Given the description of an element on the screen output the (x, y) to click on. 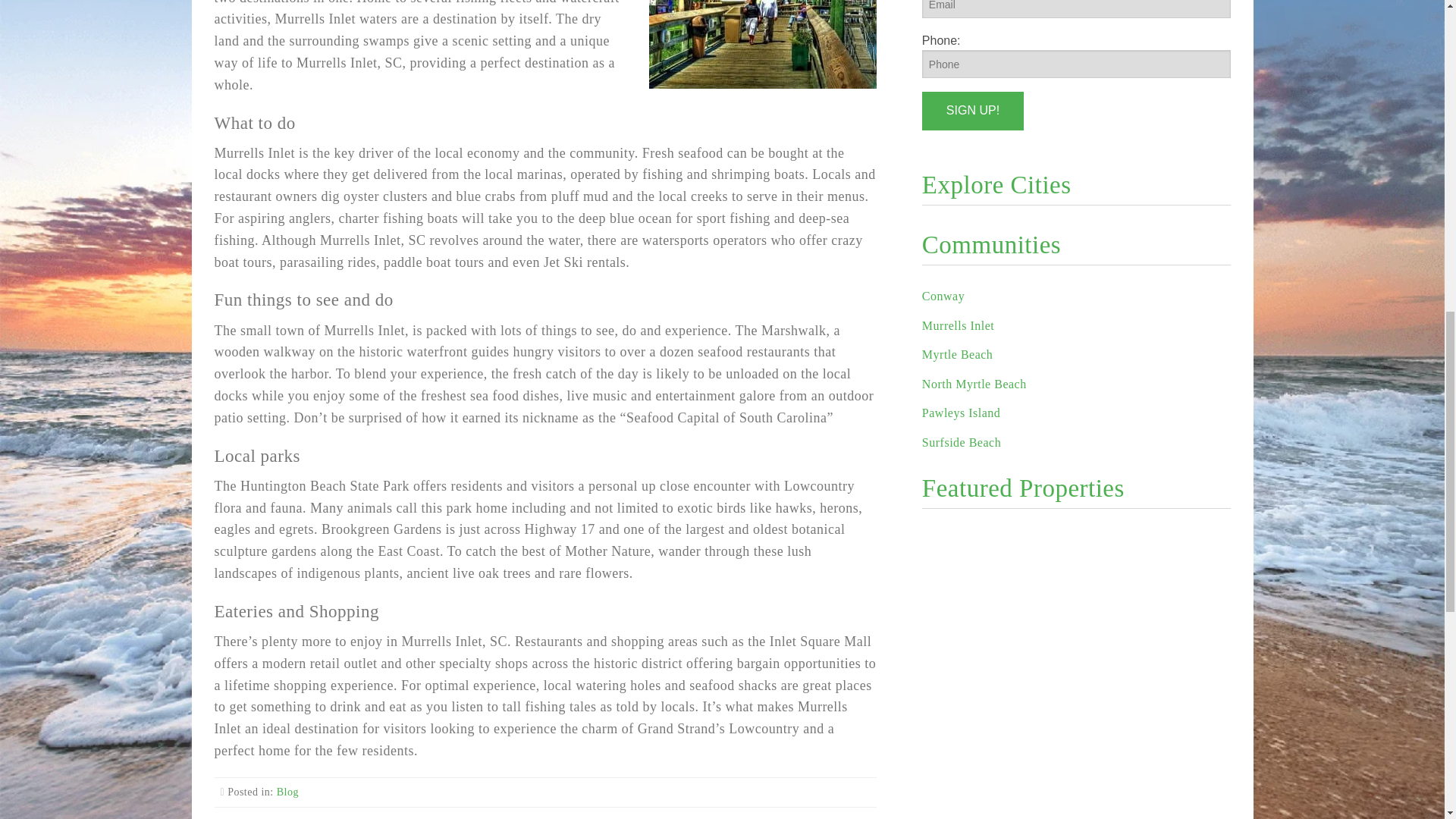
Myrtle Beach (956, 354)
Blog (287, 791)
Surfside Beach (961, 441)
Murrells Inlet (957, 325)
Pawleys Island (960, 412)
North Myrtle Beach (973, 383)
SIGN UP! (972, 110)
Conway (942, 295)
